Given the description of an element on the screen output the (x, y) to click on. 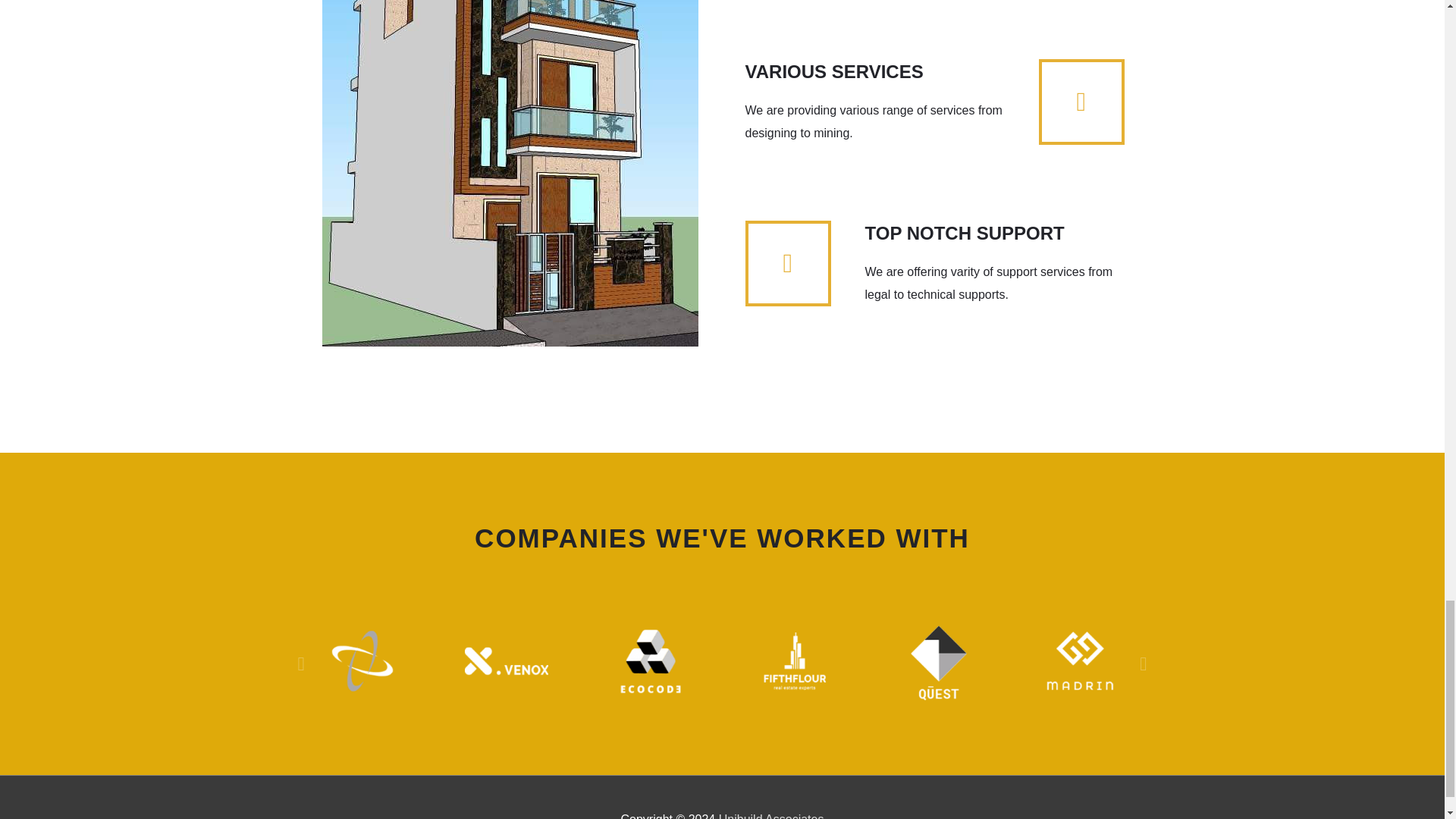
Unibuild Associates (771, 816)
